Given the description of an element on the screen output the (x, y) to click on. 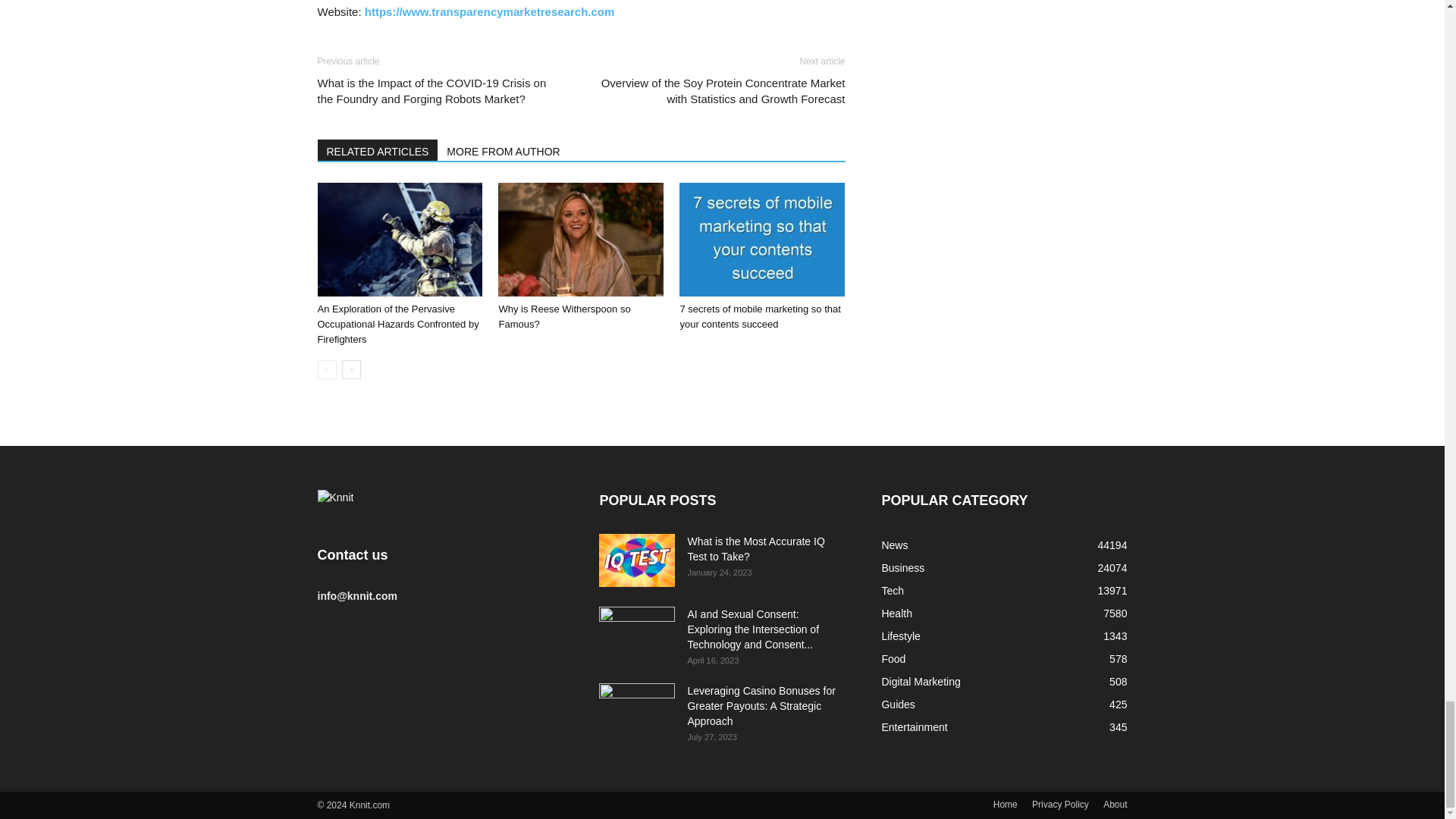
Why is Reese Witherspoon so Famous? (580, 239)
7 secrets of mobile marketing so that your contents succeed (759, 316)
RELATED ARTICLES (377, 149)
Why is Reese Witherspoon so Famous? (563, 316)
7 secrets of mobile marketing so that your contents succeed (761, 239)
